Given the description of an element on the screen output the (x, y) to click on. 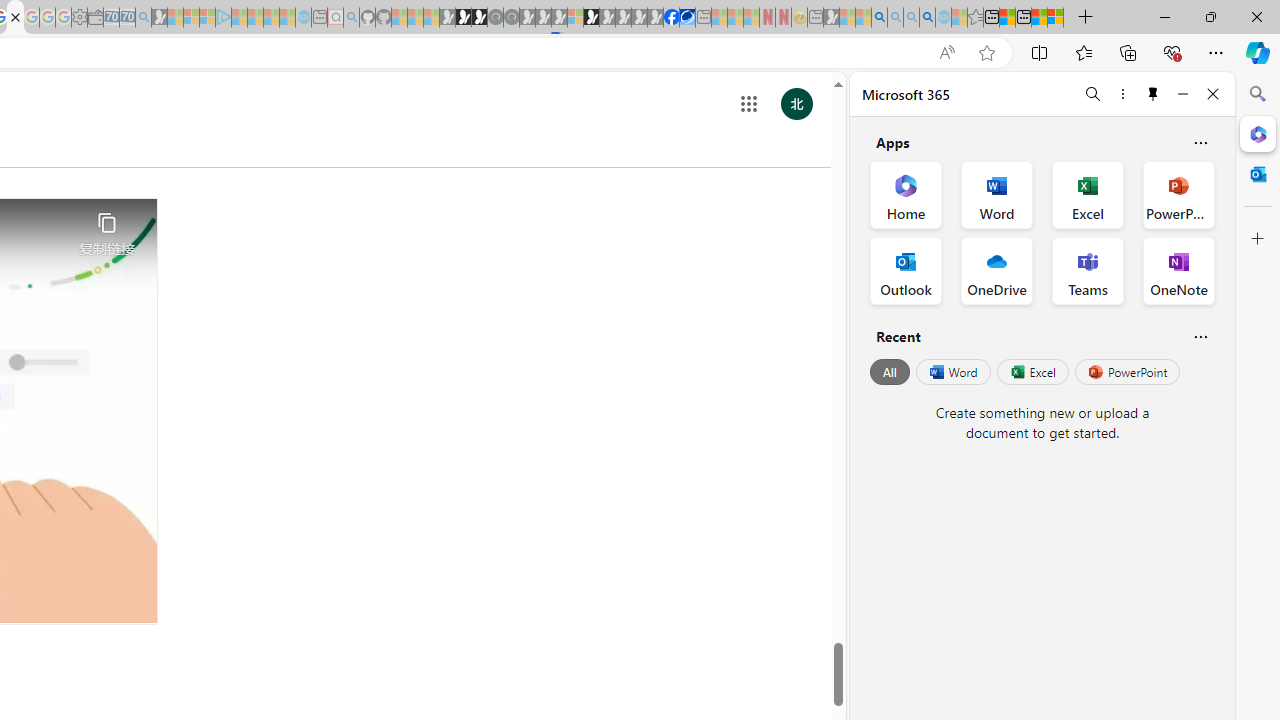
Word Office App (996, 194)
Home Office App (906, 194)
Teams Office App (1087, 270)
